Given the description of an element on the screen output the (x, y) to click on. 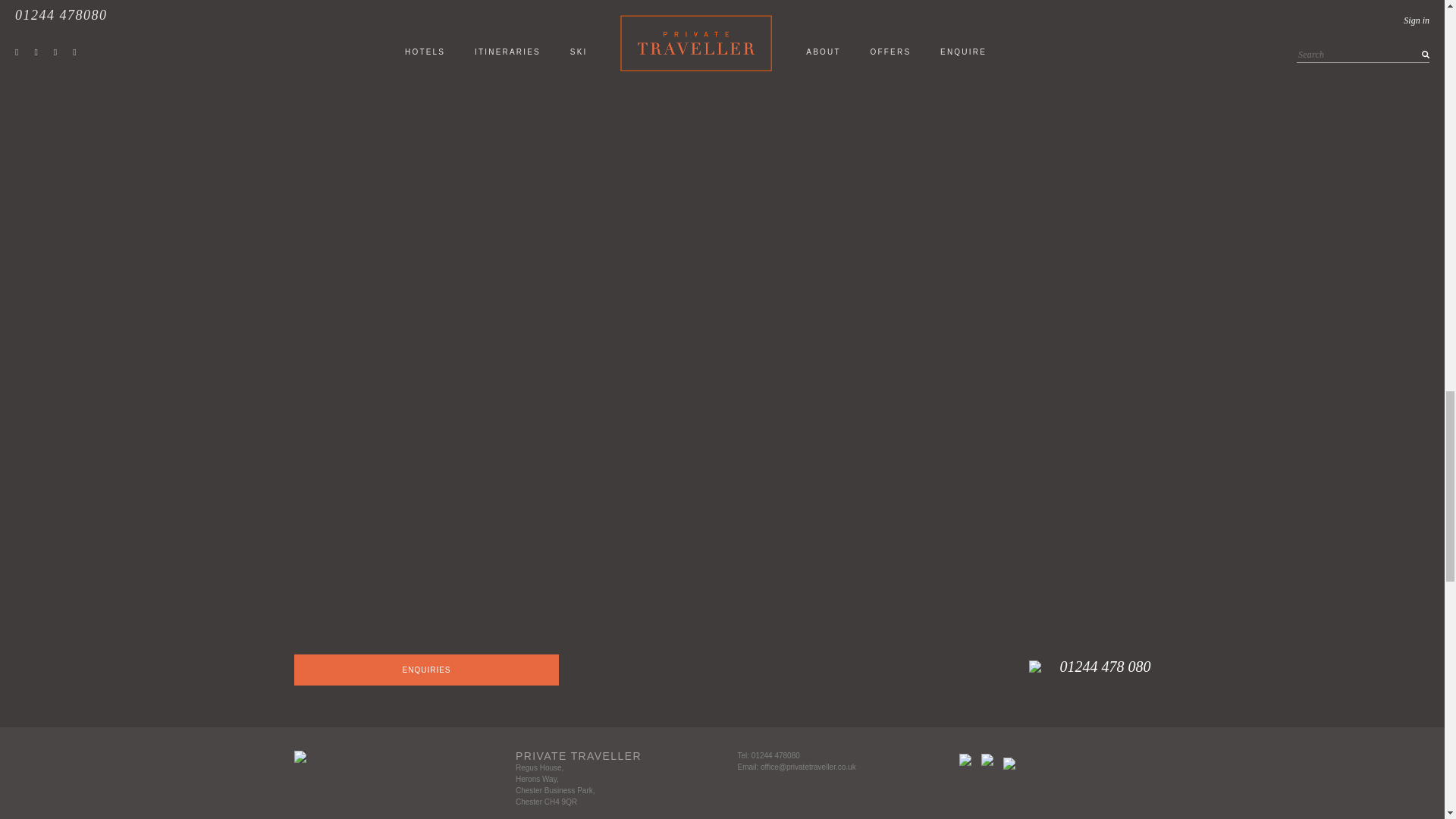
BA Appointed Operator (1008, 763)
ATOL 11270 (986, 759)
PTS Member No. 5547 (965, 759)
